Given the description of an element on the screen output the (x, y) to click on. 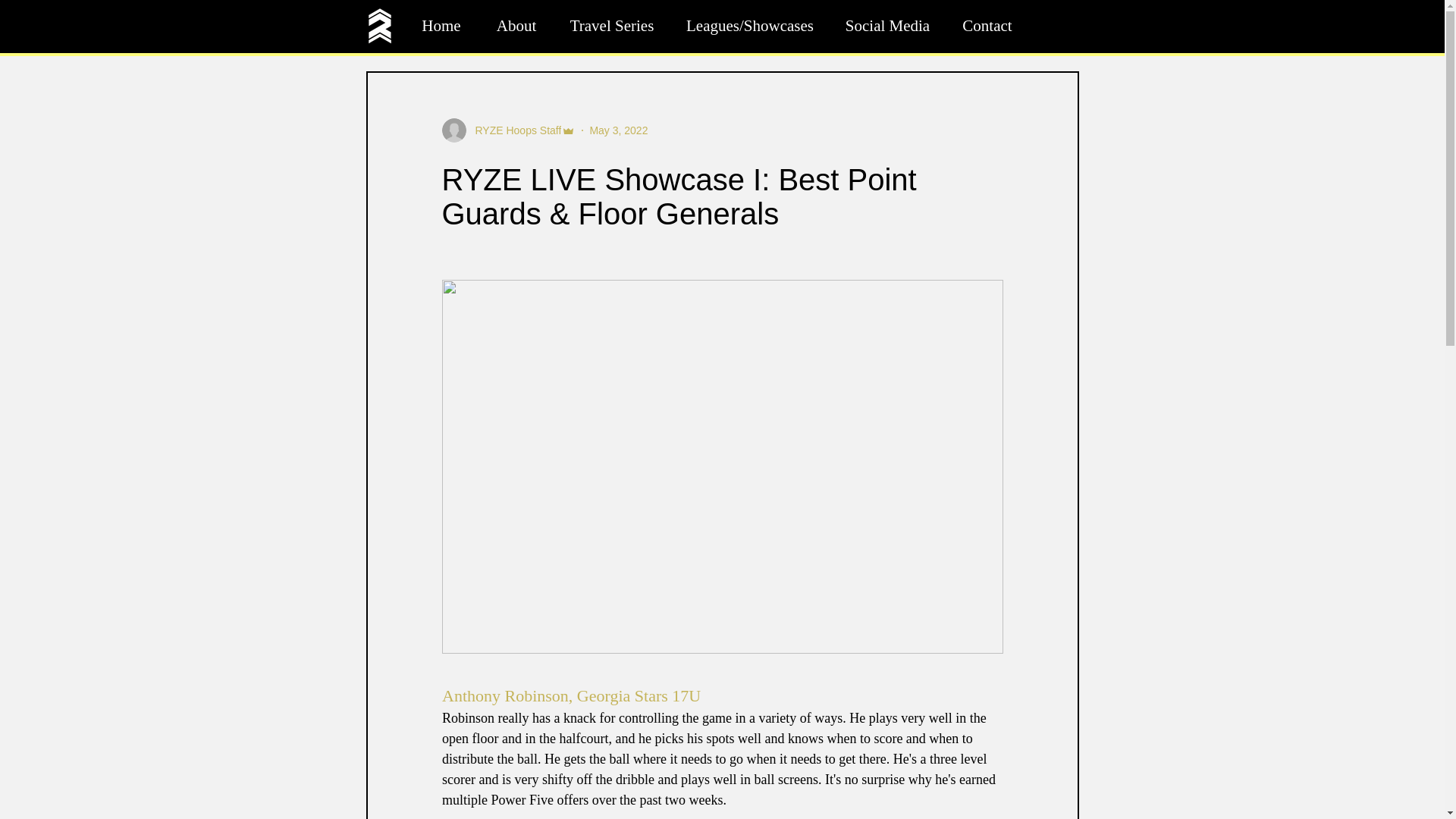
Contact (986, 25)
RYZE Hoops Staff (508, 129)
Travel Series (611, 25)
About (516, 25)
Home (441, 25)
May 3, 2022 (618, 130)
RYZE Hoops Staff (512, 130)
Social Media (886, 25)
